Given the description of an element on the screen output the (x, y) to click on. 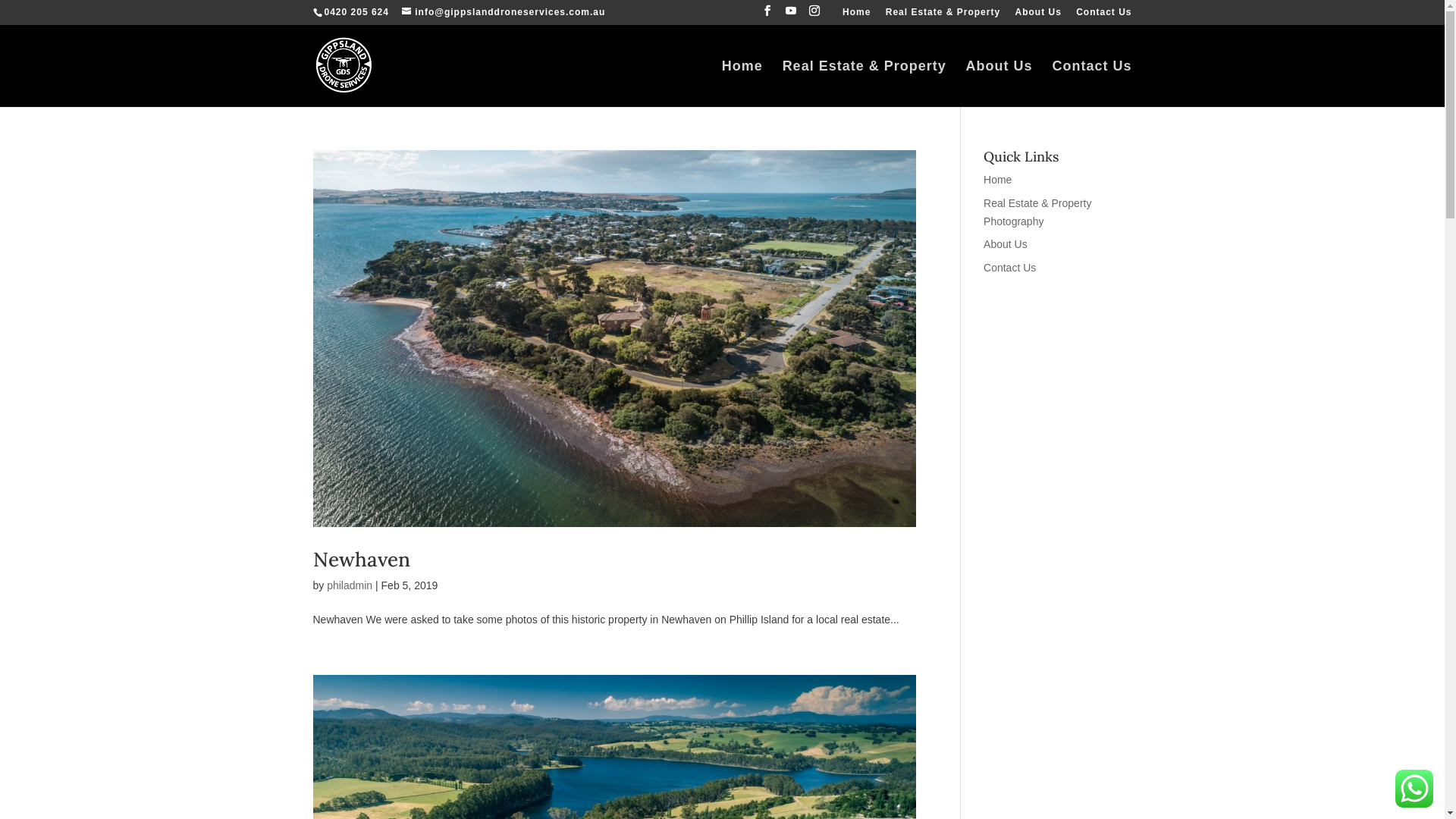
Home Element type: text (856, 15)
Contact Us Element type: text (1009, 267)
Contact Us Element type: text (1103, 15)
info@gippslanddroneservices.com.au Element type: text (503, 11)
Home Element type: text (741, 83)
Newhaven Element type: text (360, 558)
About Us Element type: text (1005, 244)
About Us Element type: text (1037, 15)
Real Estate & Property Photography Element type: text (1037, 212)
0420 205 624 Element type: text (355, 11)
Contact Us Element type: text (1091, 83)
philadmin Element type: text (349, 585)
Real Estate & Property Element type: text (864, 83)
About Us Element type: text (999, 83)
Real Estate & Property Element type: text (942, 15)
Home Element type: text (997, 179)
